Given the description of an element on the screen output the (x, y) to click on. 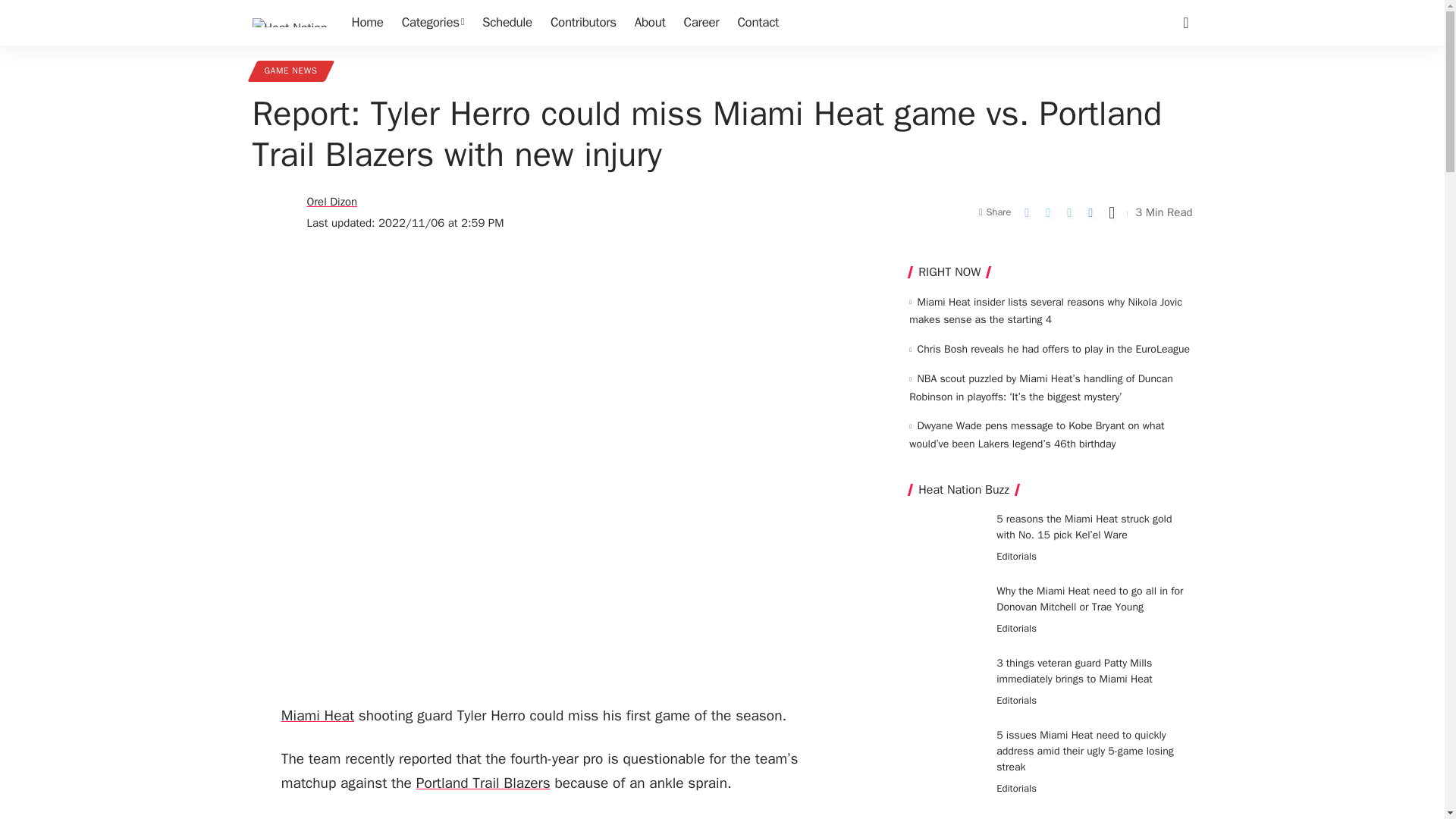
Contact (757, 22)
Portland Trail Blazers (483, 782)
GAME NEWS (290, 70)
Categories (433, 22)
Miami Heat (317, 715)
Portland Trail Blazers (483, 782)
Career (702, 22)
